Given the description of an element on the screen output the (x, y) to click on. 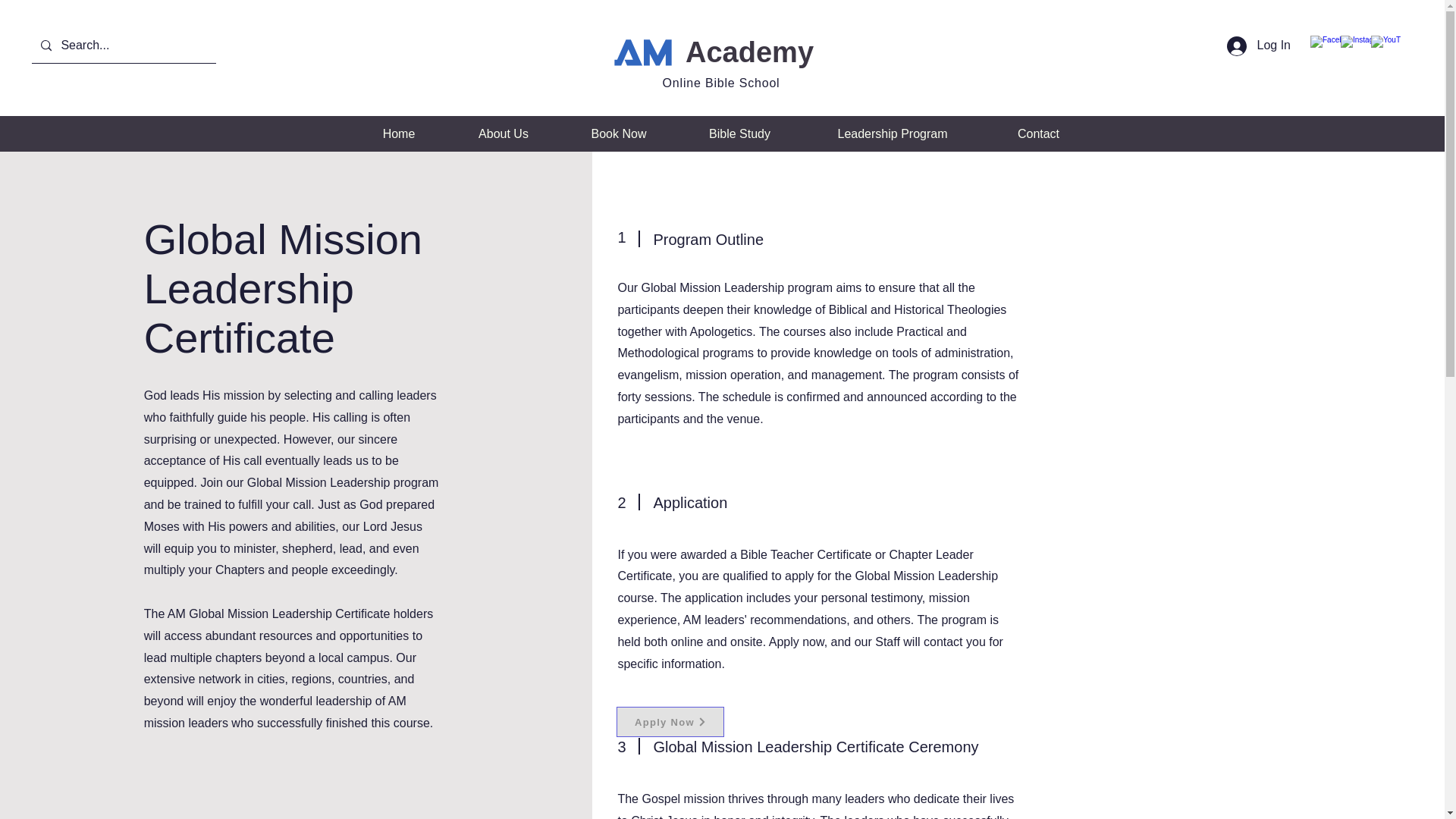
Apply Now (669, 721)
Log In (1258, 45)
About Us (503, 133)
Bible Study (740, 133)
Book Now (618, 133)
Leadership Program (893, 133)
Home (398, 133)
Academy (749, 51)
Contact (1037, 133)
